Given the description of an element on the screen output the (x, y) to click on. 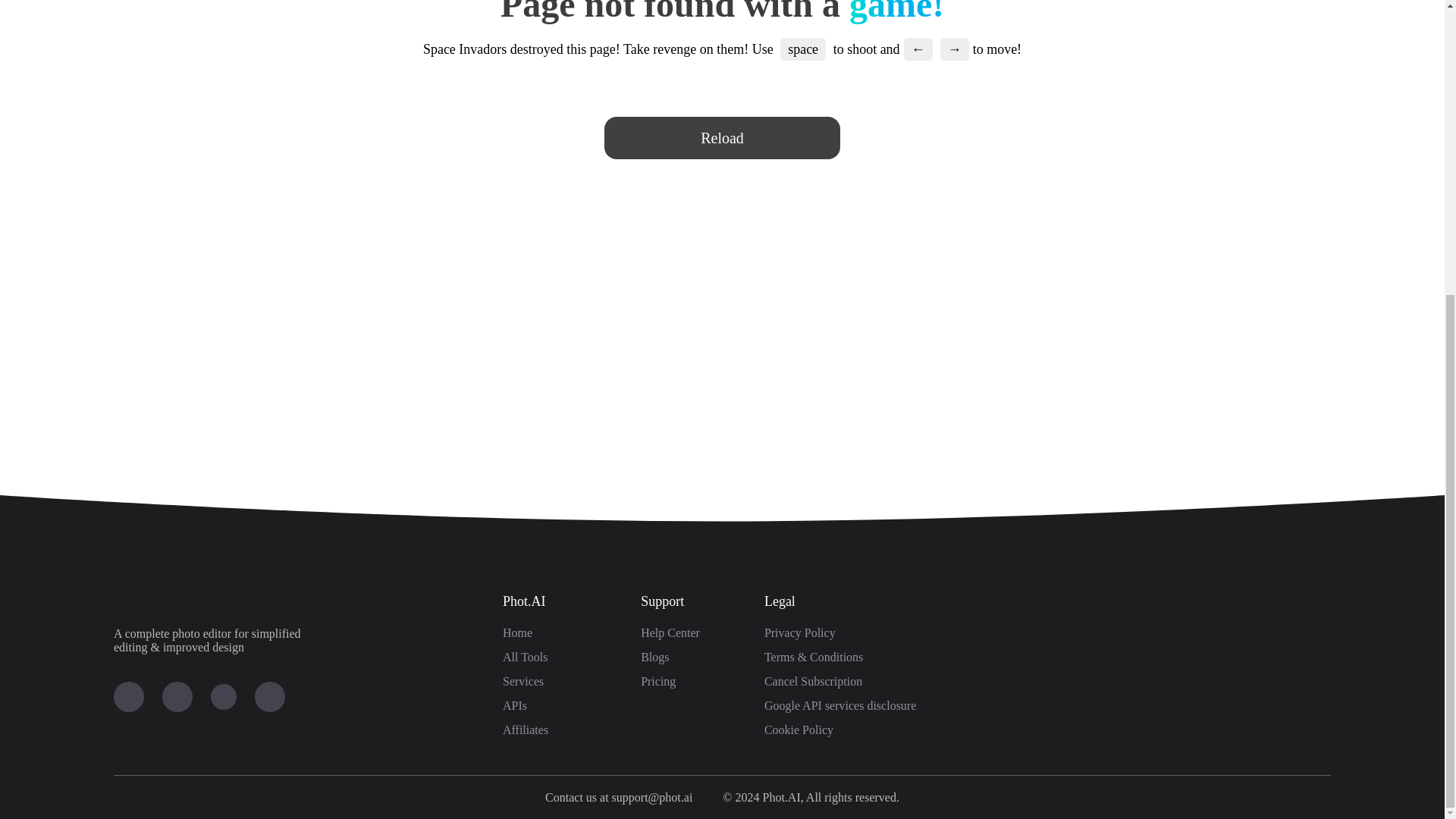
Twitter link (223, 696)
Reload (722, 137)
Youtube link (128, 696)
Pinterest link (269, 696)
Instagram link (176, 696)
